Given the description of an element on the screen output the (x, y) to click on. 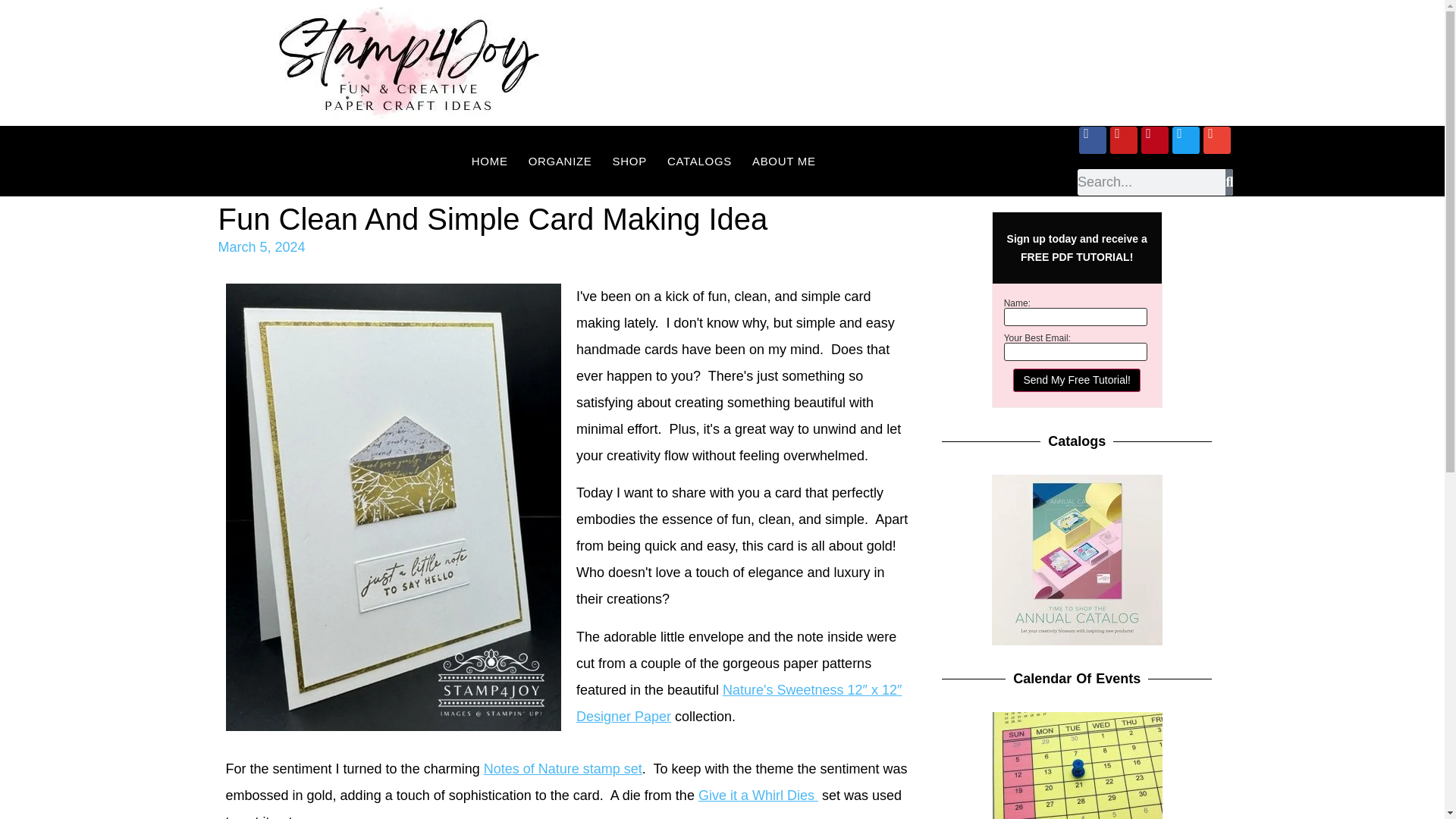
Stamp4Joy Calendar of Events (1076, 765)
March 5, 2024 (261, 247)
SHOP (629, 160)
HOME (489, 160)
Give it a Whirl Dies (758, 795)
ORGANIZE (560, 160)
ABOUT ME (784, 160)
Send My Free Tutorial! (1076, 380)
Send My Free Tutorial! (1076, 380)
Notes of Nature stamp set (562, 768)
